Given the description of an element on the screen output the (x, y) to click on. 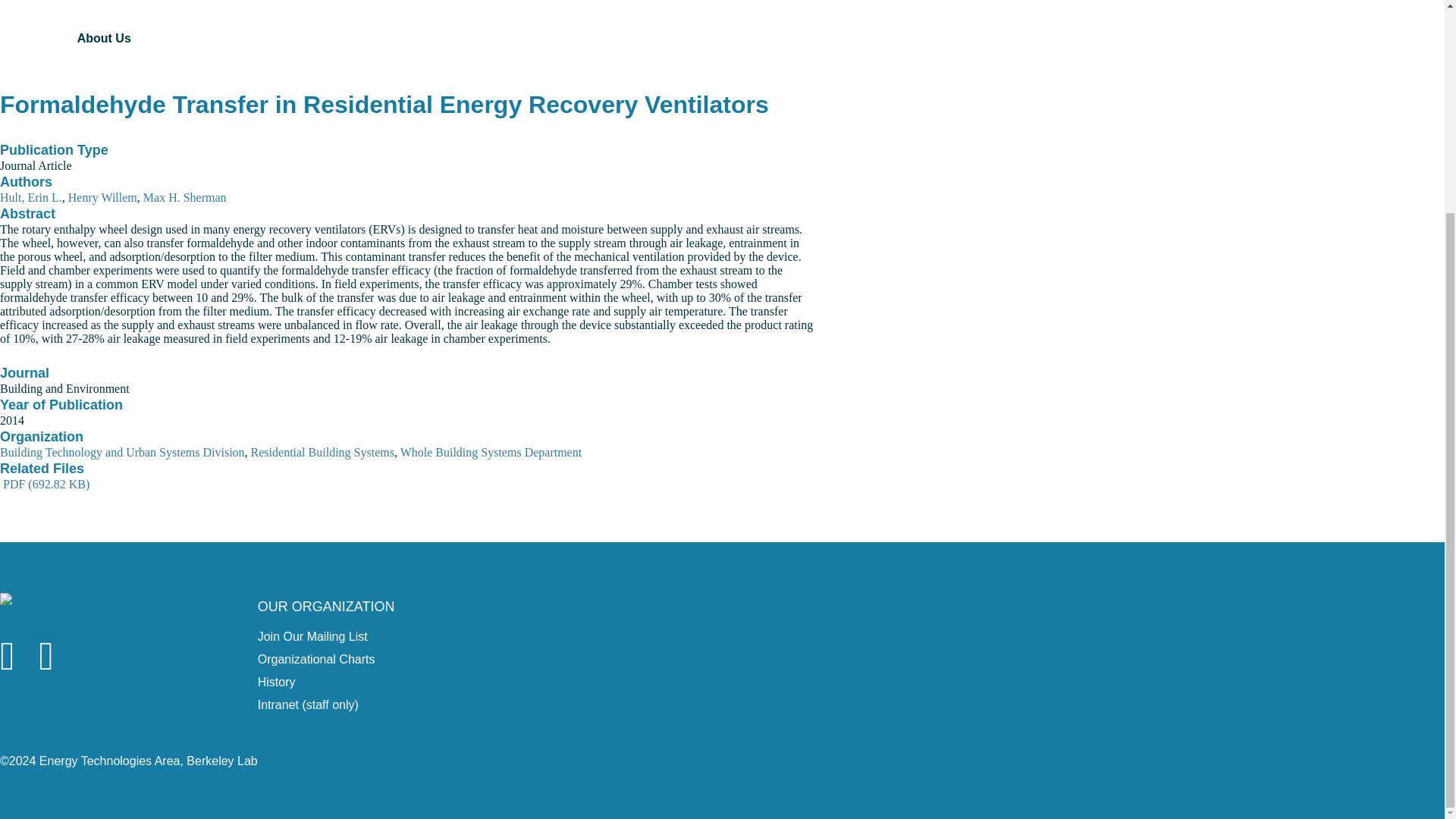
News (132, 4)
About Us (132, 38)
